Given the description of an element on the screen output the (x, y) to click on. 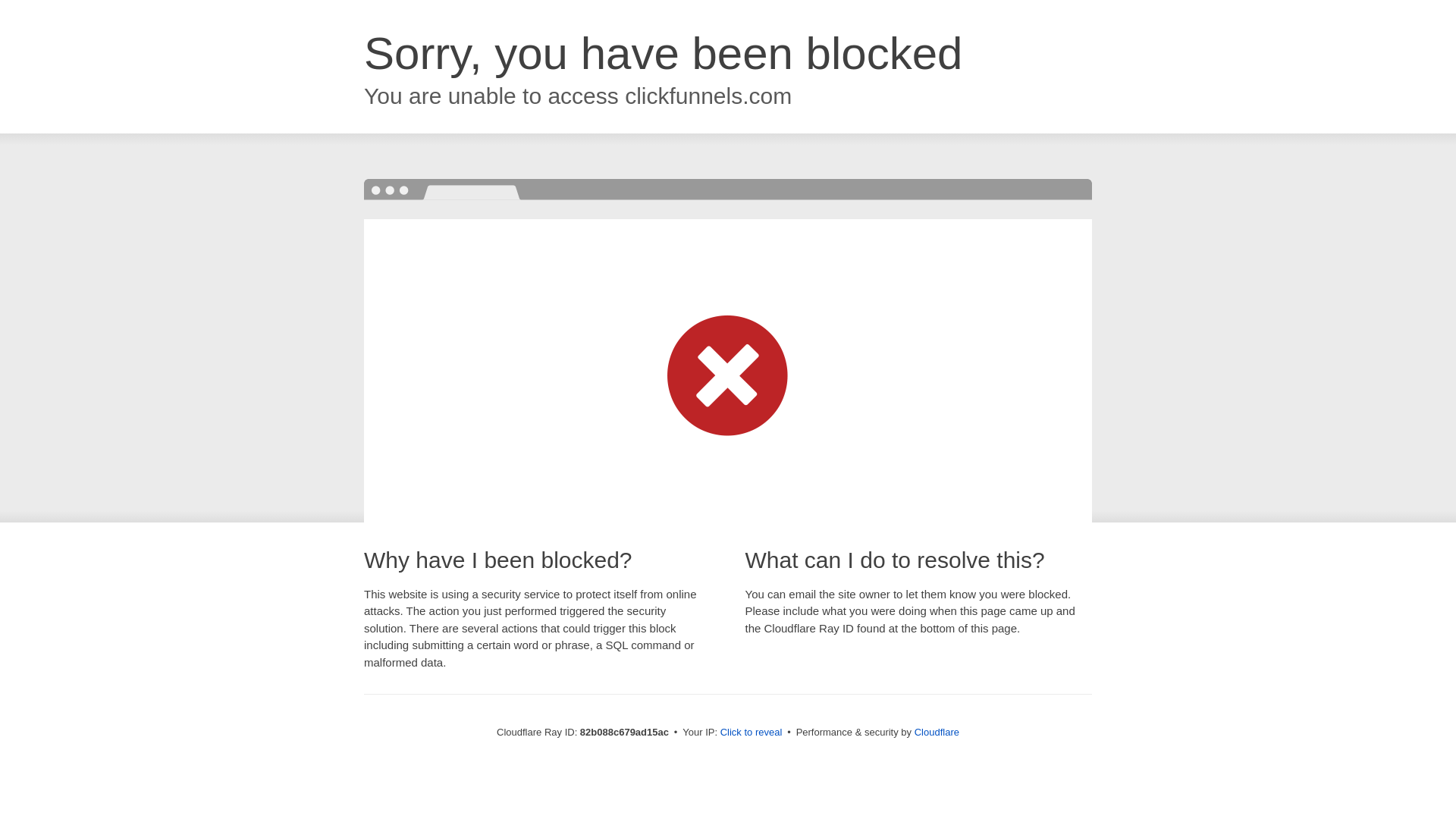
Click to reveal Element type: text (751, 732)
Cloudflare Element type: text (936, 731)
